Given the description of an element on the screen output the (x, y) to click on. 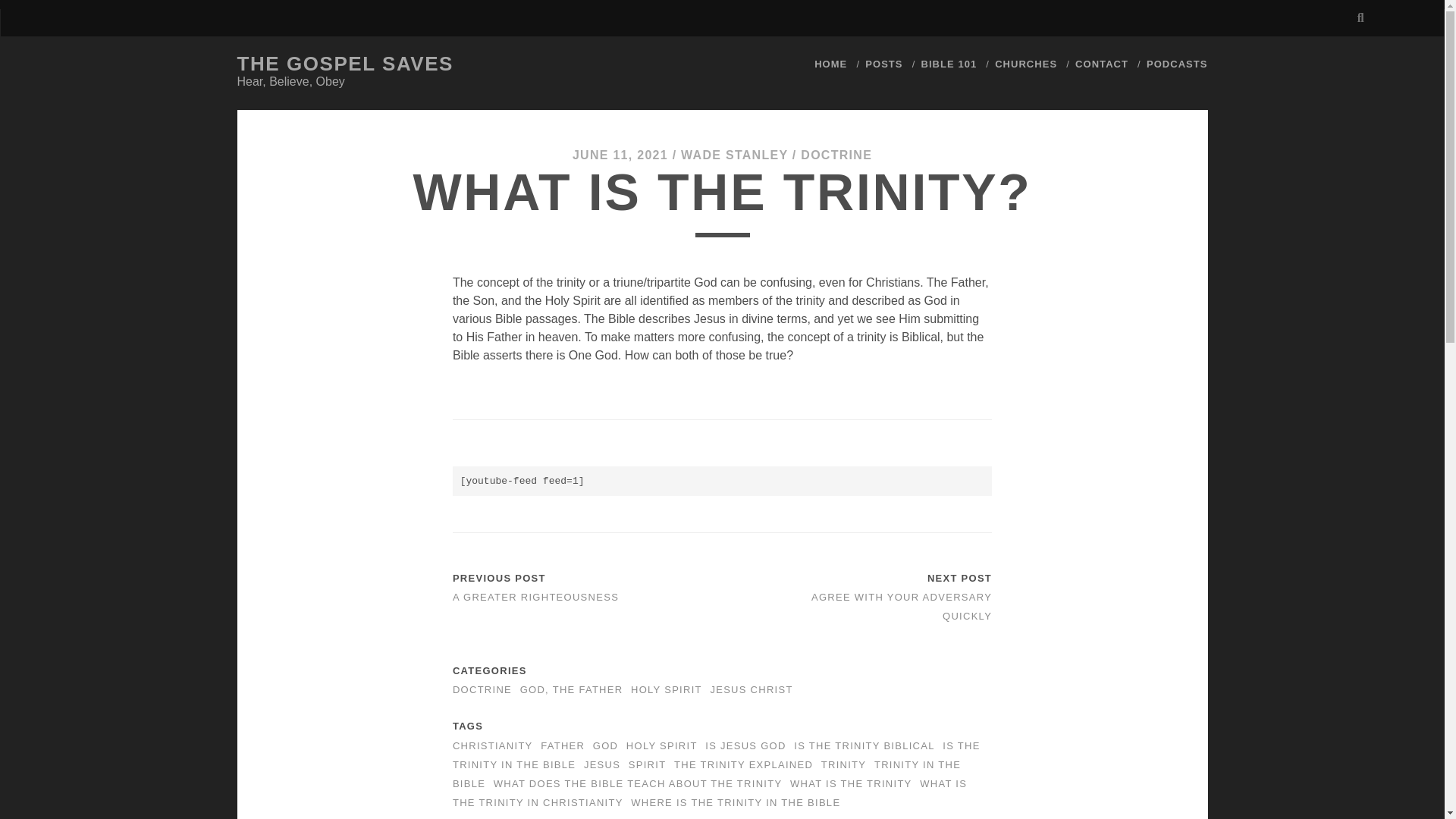
Posts by Wade Stanley (734, 154)
THE GOSPEL SAVES (343, 63)
HOME (830, 64)
HOLY SPIRIT (665, 689)
THE TRINITY EXPLAINED (743, 764)
CHURCHES (1025, 64)
CONTACT (1101, 64)
View all posts in Holy Spirit (665, 689)
A GREATER RIGHTEOUSNESS (535, 596)
View all posts tagged God (604, 745)
